Given the description of an element on the screen output the (x, y) to click on. 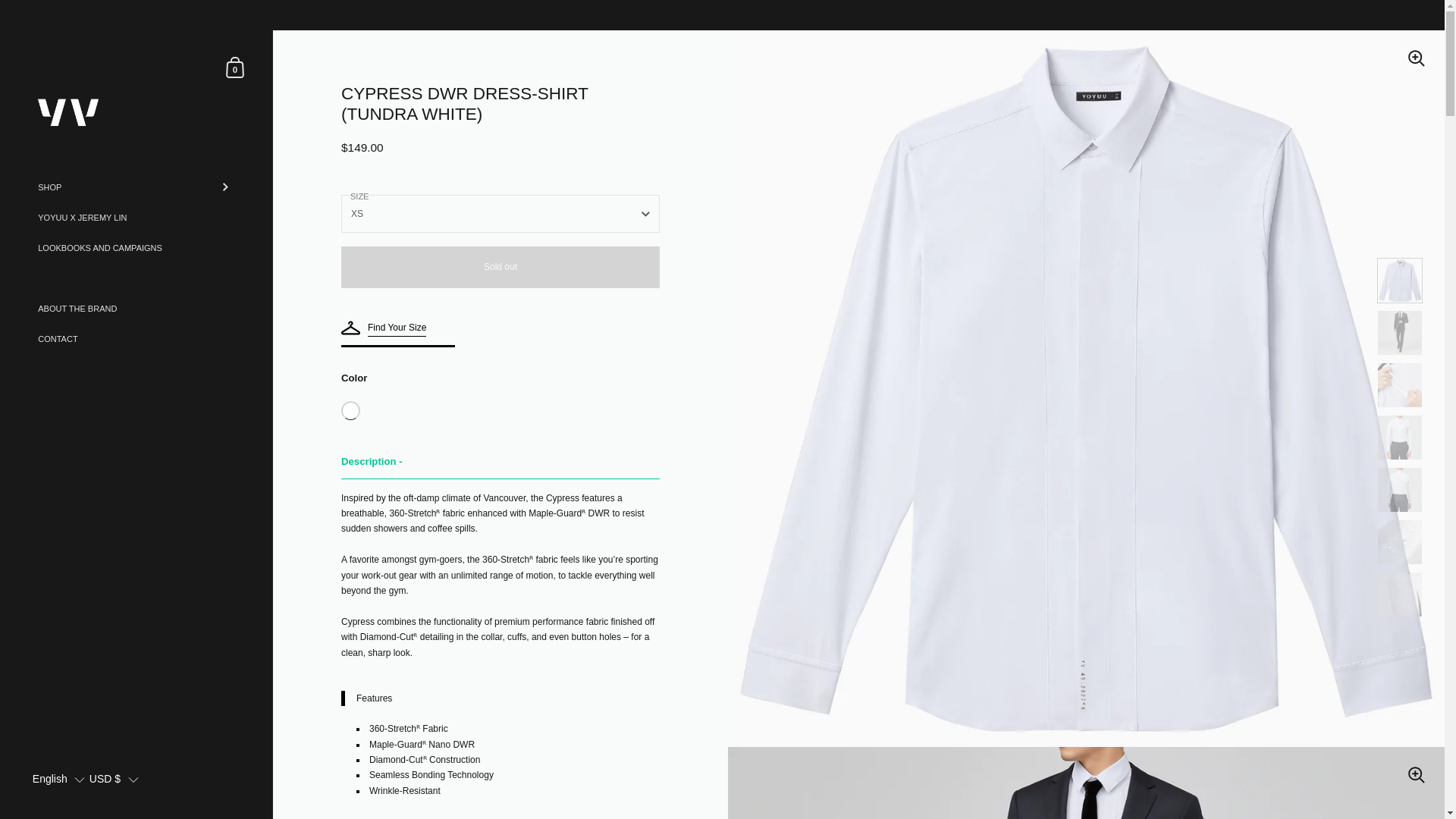
Shopping Cart (235, 66)
SHOP (136, 186)
CONTACT (136, 338)
YOYUU X JEREMY LIN (136, 217)
Sold out (235, 66)
ABOUT THE BRAND (499, 267)
LOOKBOOKS AND CAMPAIGNS (136, 308)
